Given the description of an element on the screen output the (x, y) to click on. 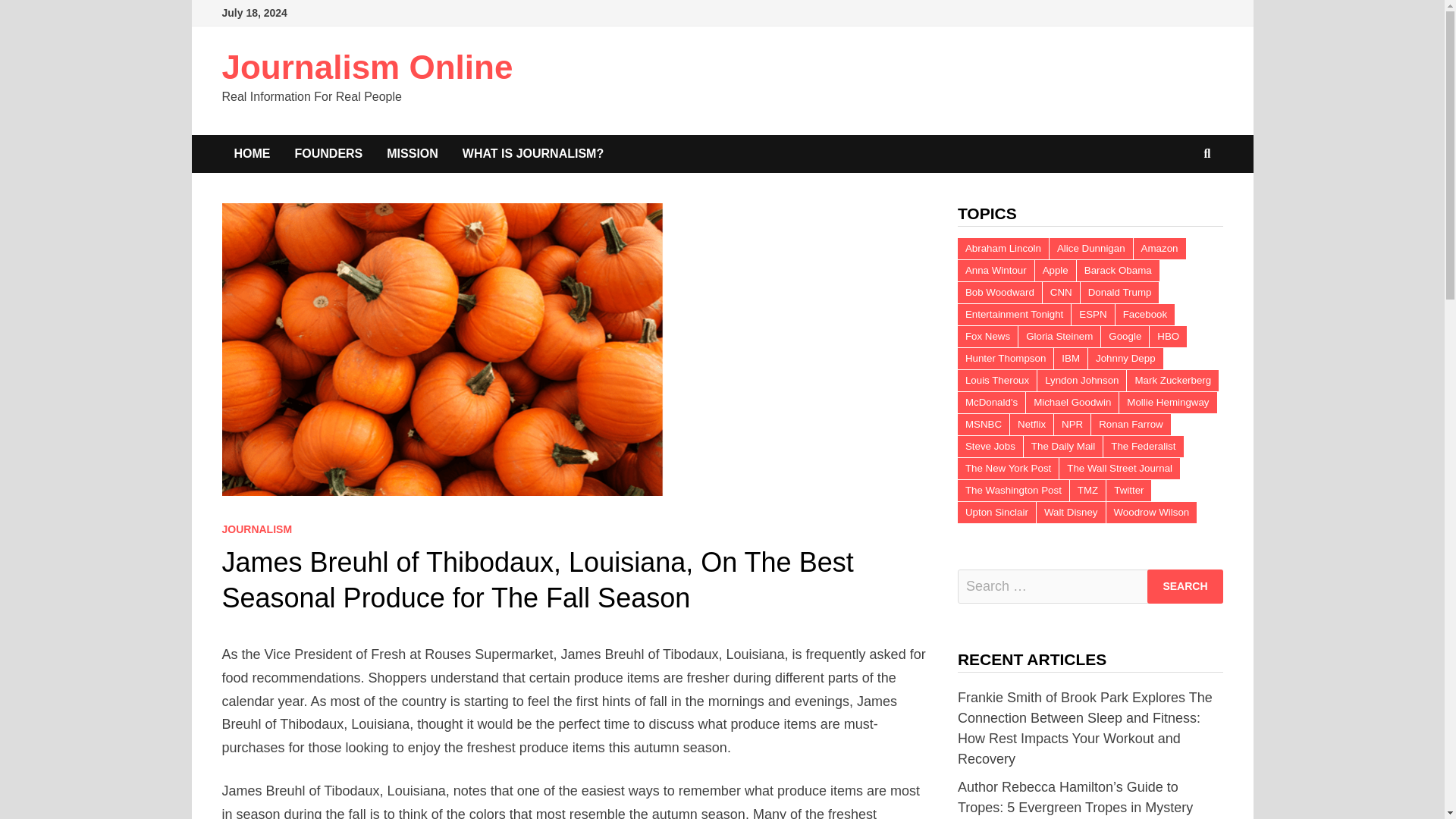
Barack Obama (1117, 270)
Apple (1055, 270)
WHAT IS JOURNALISM? (532, 153)
CNN (1061, 292)
Fox News (987, 336)
ESPN (1092, 314)
HBO (1168, 336)
Search (1185, 586)
Google (1124, 336)
FOUNDERS (328, 153)
Amazon (1160, 248)
Abraham Lincoln (1003, 248)
Alice Dunnigan (1090, 248)
Search (1185, 586)
Anna Wintour (995, 270)
